Given the description of an element on the screen output the (x, y) to click on. 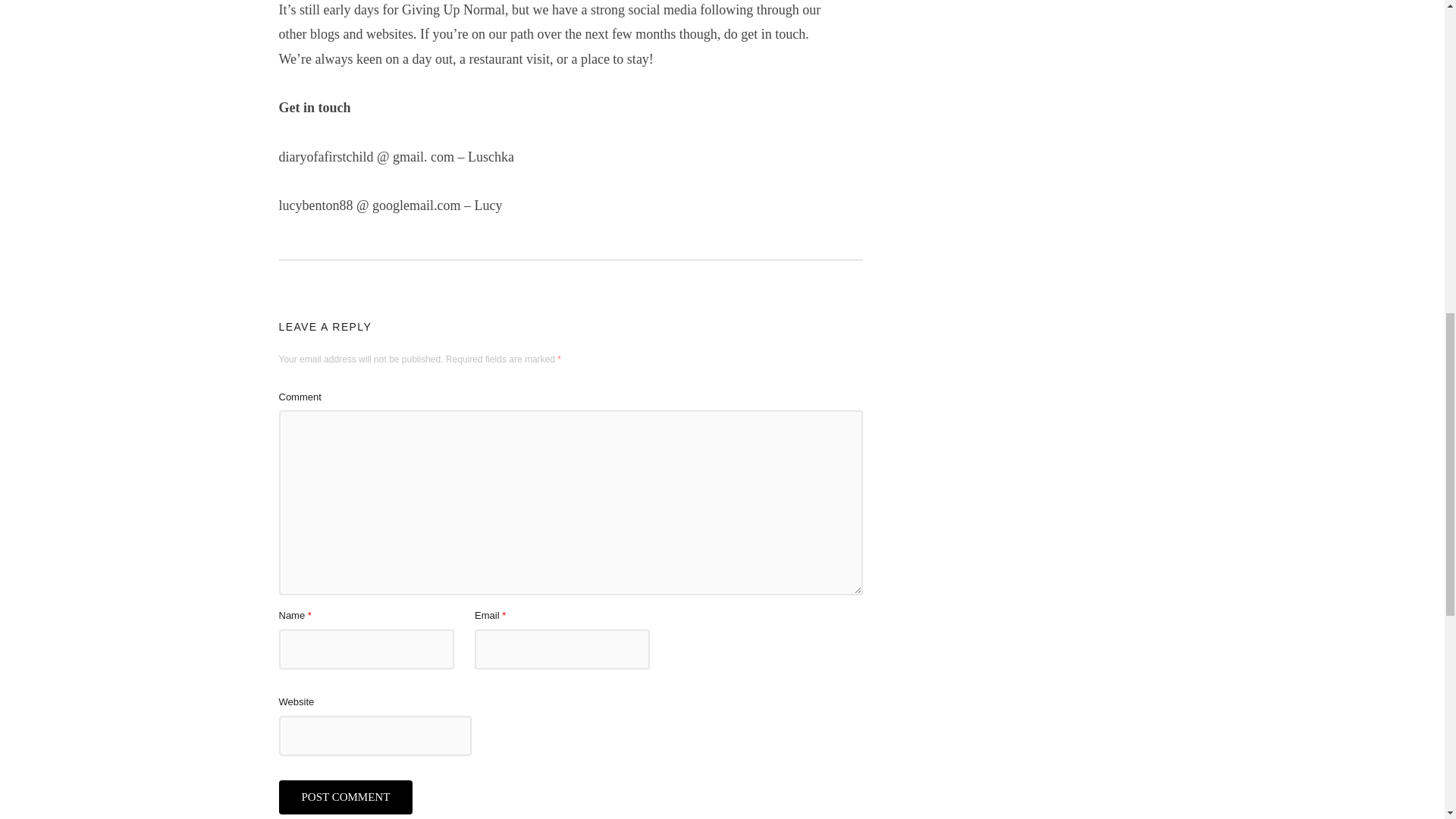
Post Comment (346, 797)
